Given the description of an element on the screen output the (x, y) to click on. 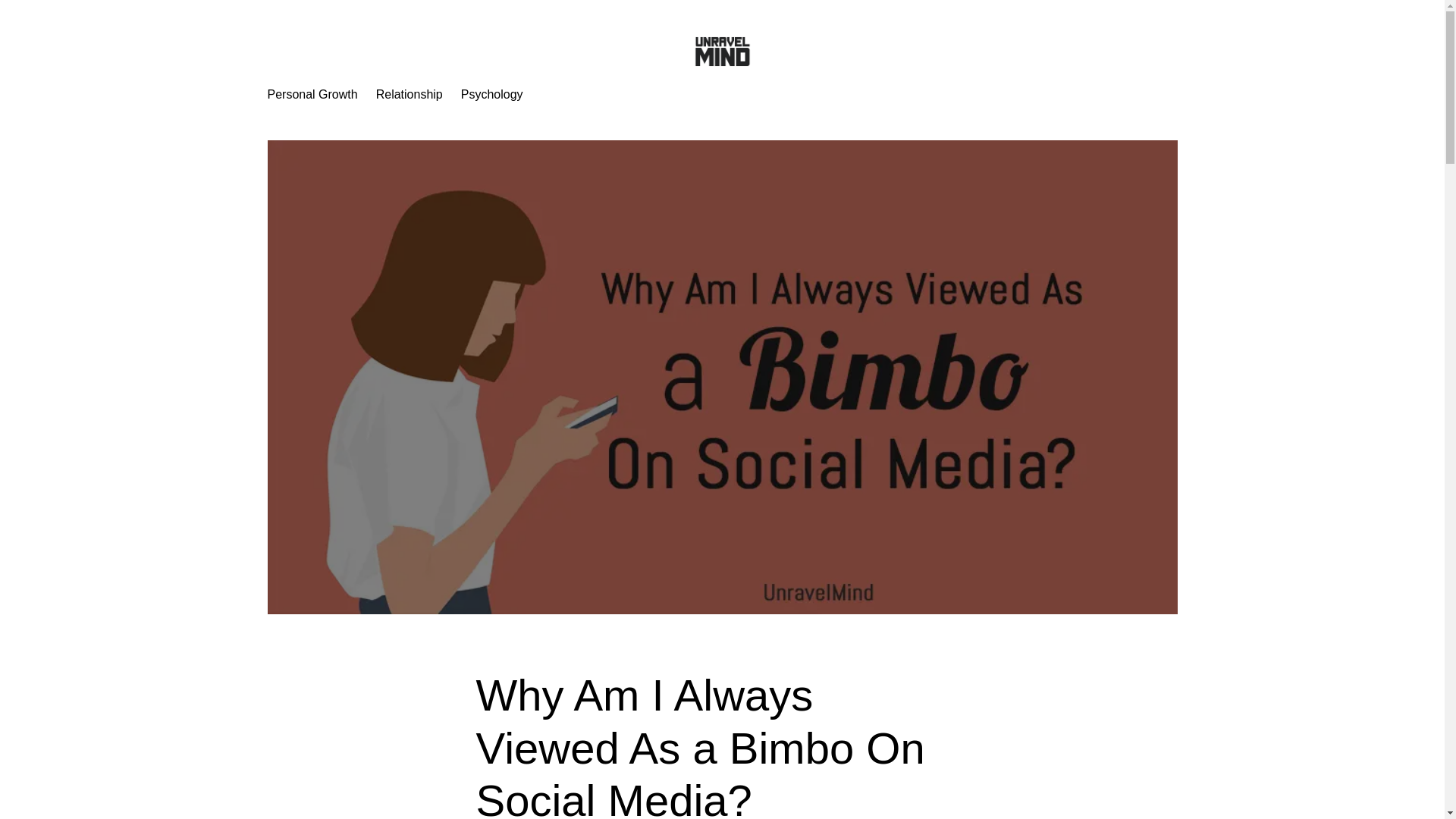
Relationship (408, 94)
Psychology (491, 94)
Personal Growth (311, 94)
